Given the description of an element on the screen output the (x, y) to click on. 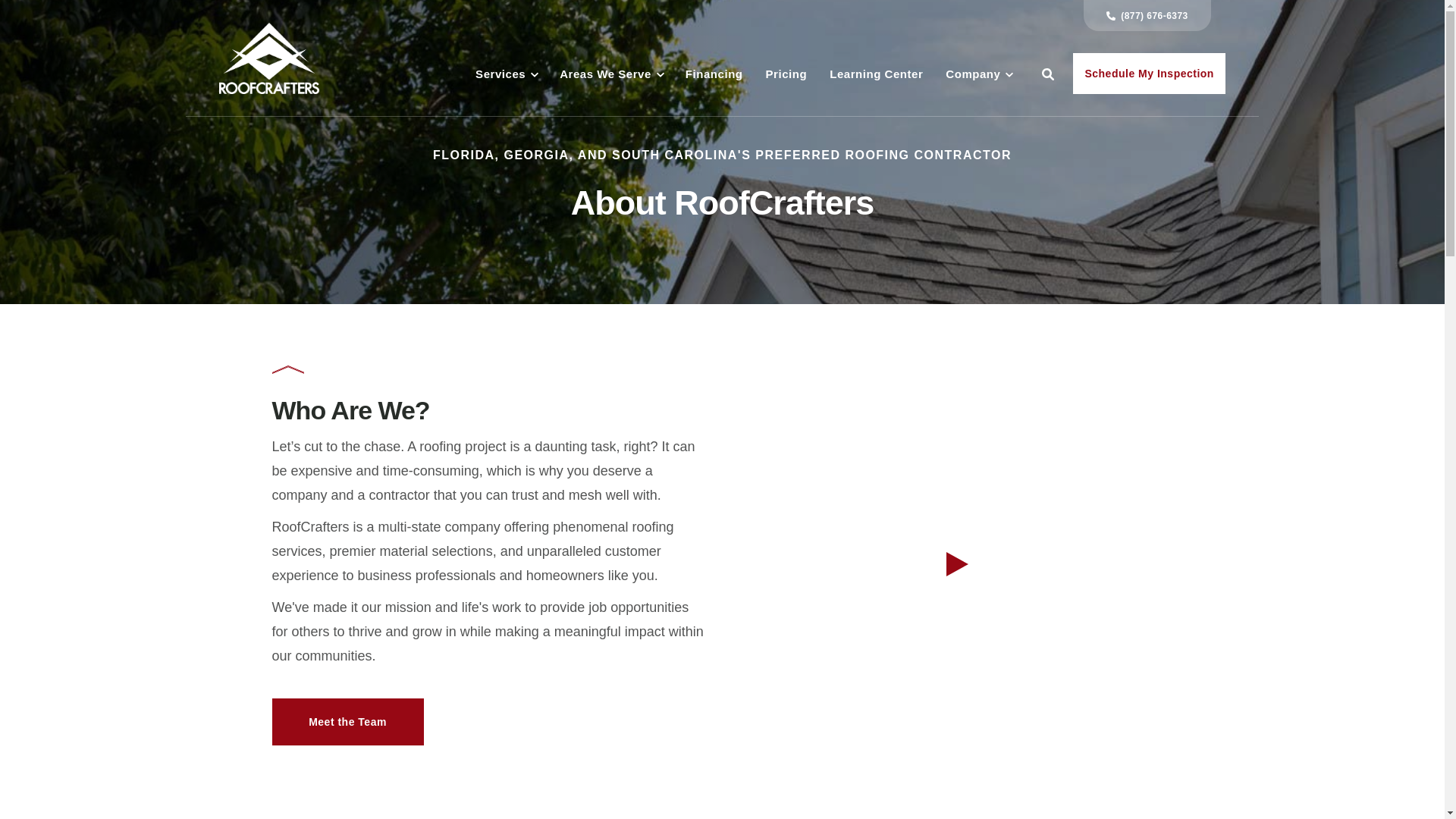
Open Search (1047, 73)
Open Search (1047, 73)
Financing (714, 73)
Schedule My Inspection (1148, 73)
Learning Center (876, 73)
